Given the description of an element on the screen output the (x, y) to click on. 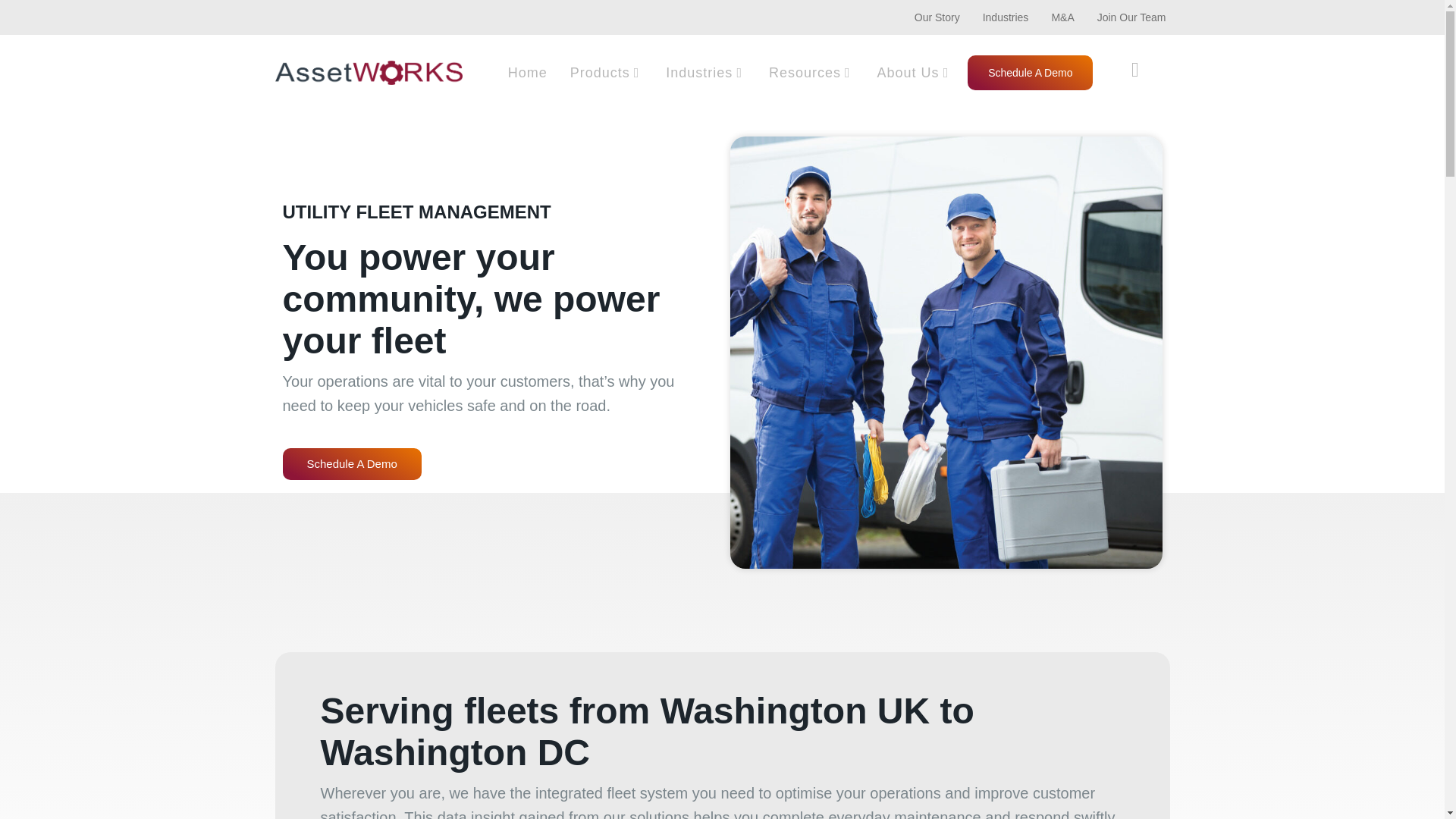
Our Story (936, 16)
Industries (1005, 16)
Join Our Team (1131, 16)
Home (527, 72)
Products (606, 72)
